Given the description of an element on the screen output the (x, y) to click on. 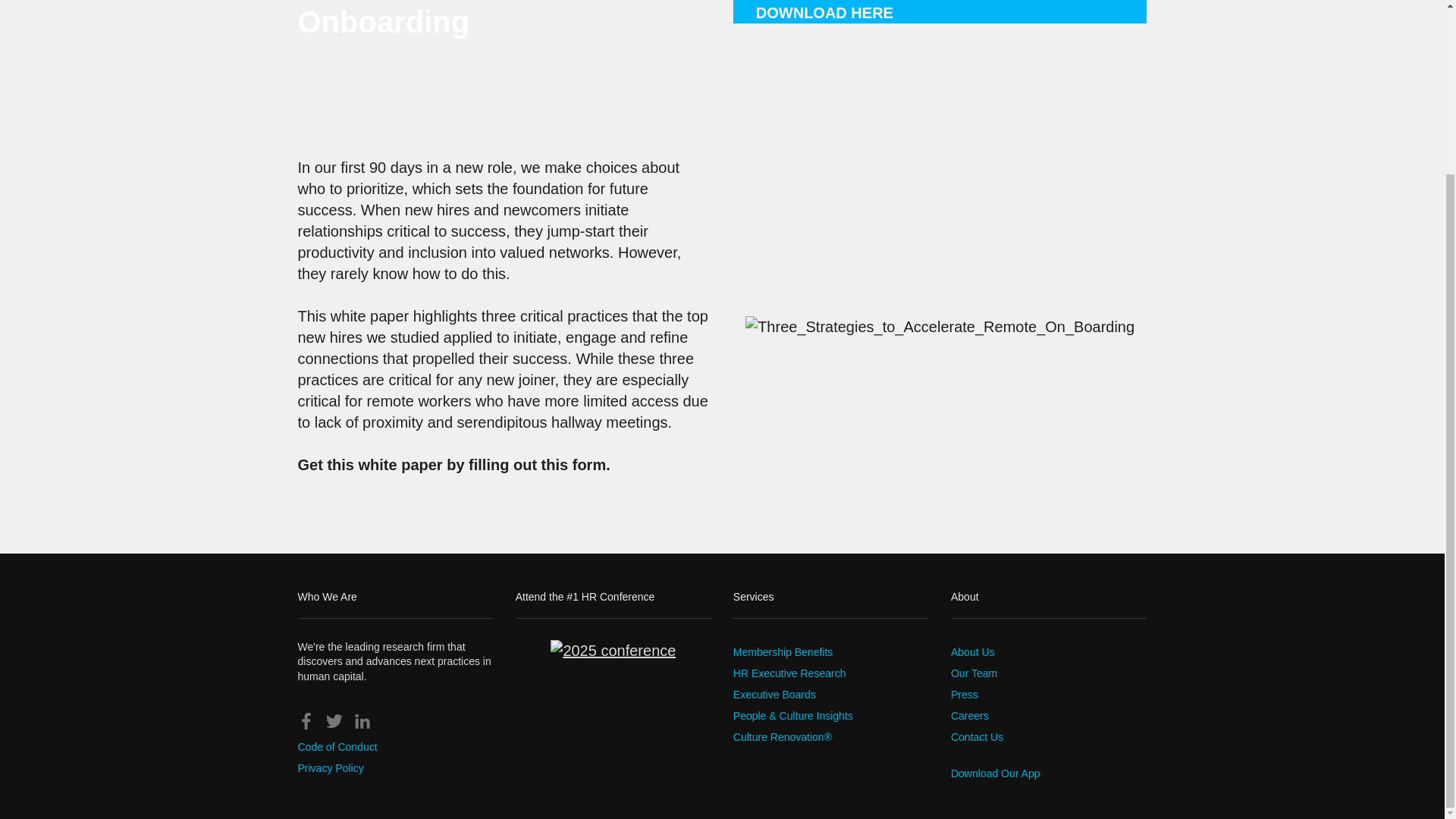
HR Executive Research (789, 673)
Our Team (973, 673)
Code of Conduct (337, 746)
Executive Boards (774, 694)
Careers (969, 715)
About Us (972, 652)
Download Our App (995, 773)
Press (964, 694)
Contact Us (976, 736)
Privacy Policy (329, 767)
2025 conference (612, 649)
Membership Benefits (782, 652)
